Given the description of an element on the screen output the (x, y) to click on. 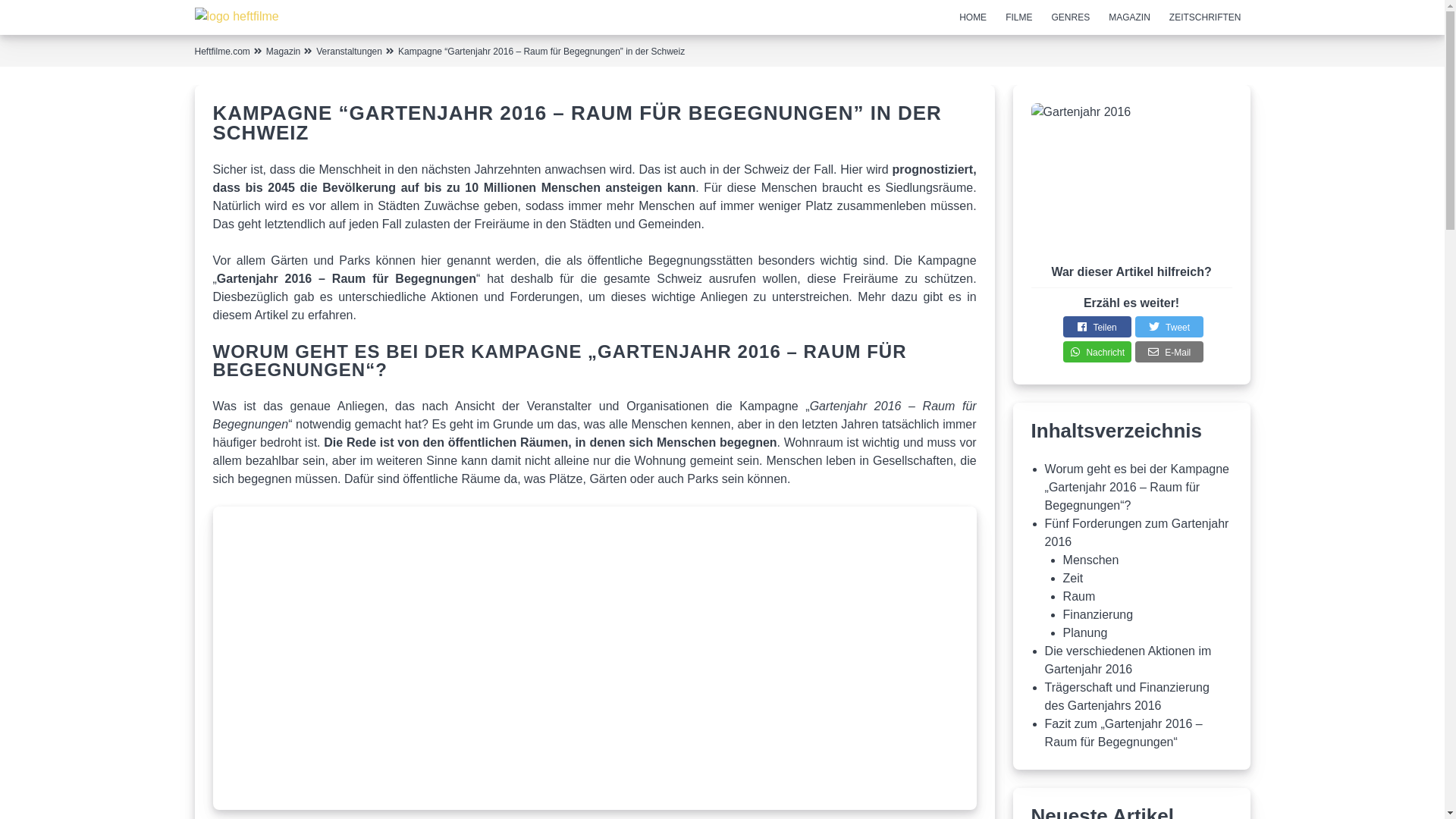
heftfilme.com Element type: hover (288, 14)
Planung Element type: text (1085, 632)
GENRES Element type: text (1069, 17)
Magazin Element type: text (283, 51)
Zeit Element type: text (1073, 577)
Nachricht Element type: text (1097, 351)
HOME Element type: text (972, 17)
Raum Element type: text (1079, 595)
MAGAZIN Element type: text (1129, 17)
Finanzierung Element type: text (1098, 614)
Menschen Element type: text (1091, 559)
Teilen Element type: text (1097, 326)
Veranstaltungen Element type: text (349, 51)
Tweet Element type: text (1169, 326)
E-Mail Element type: text (1169, 351)
FILME Element type: text (1018, 17)
Heftfilme.com Element type: text (221, 51)
ZEITSCHRIFTEN Element type: text (1205, 17)
Die verschiedenen Aktionen im Gartenjahr 2016 Element type: text (1127, 659)
